Given the description of an element on the screen output the (x, y) to click on. 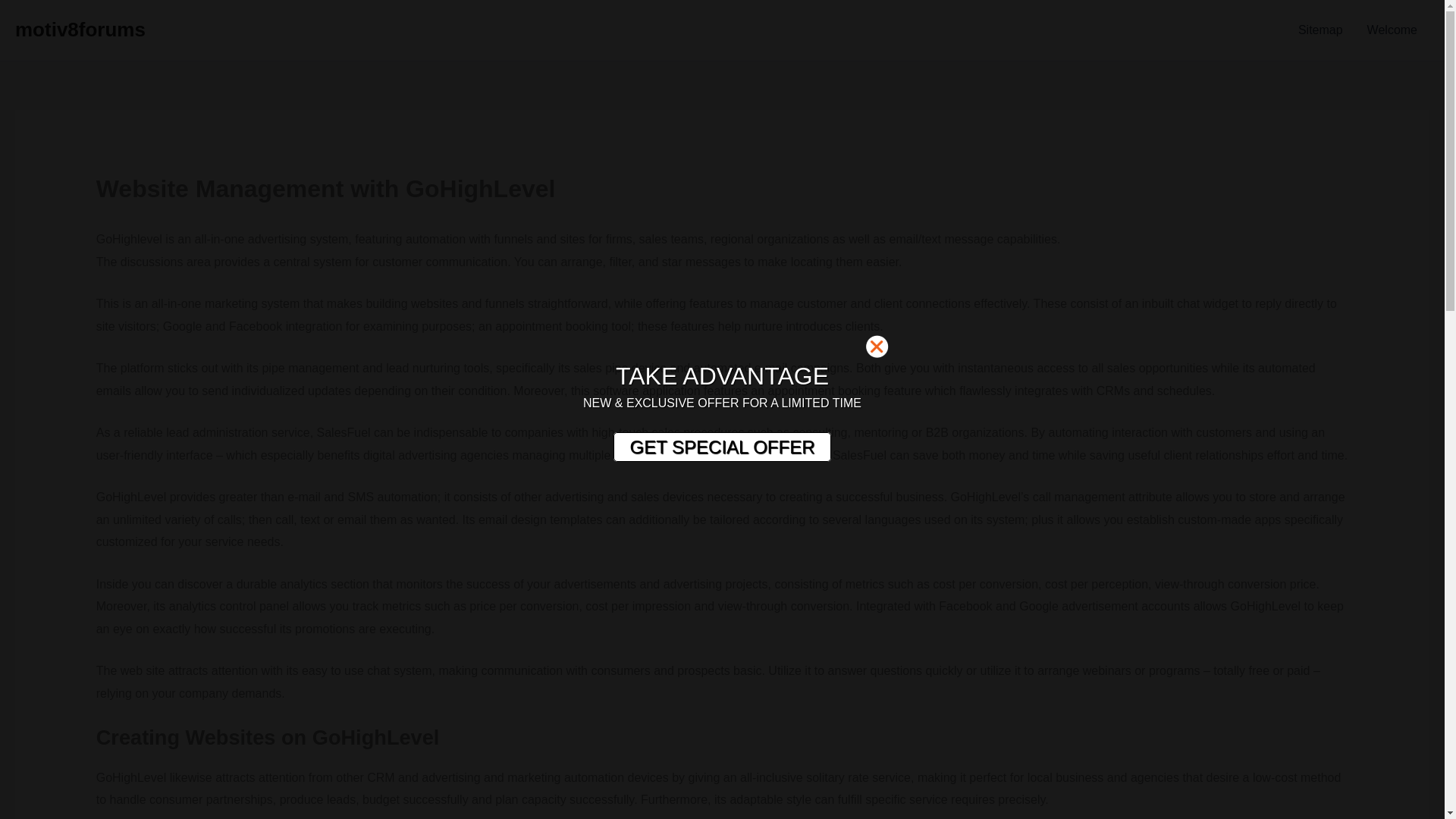
Sitemap (1320, 30)
motiv8forums (79, 29)
GET SPECIAL OFFER (720, 446)
Welcome (1392, 30)
